Given the description of an element on the screen output the (x, y) to click on. 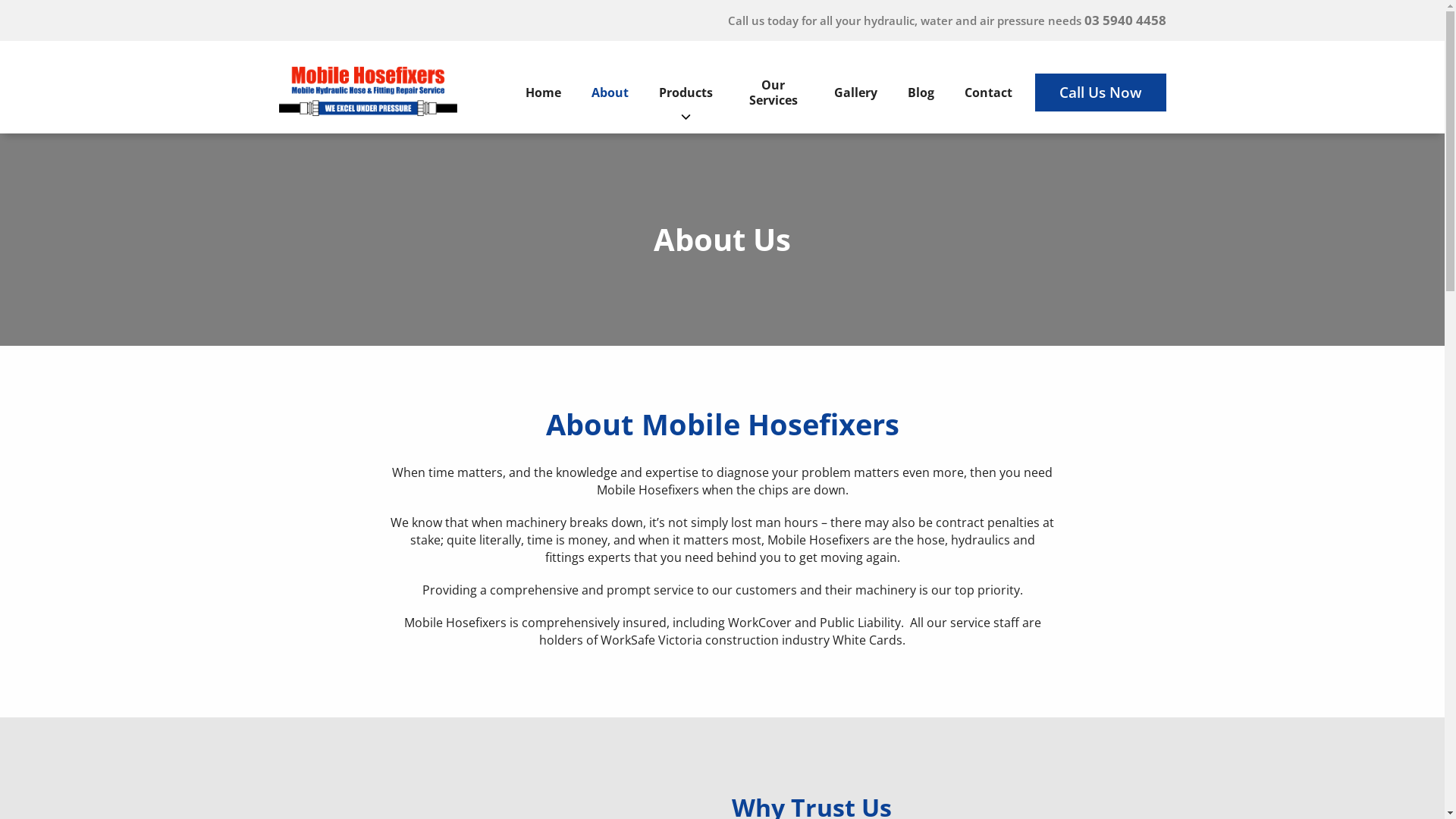
Our Services Element type: text (773, 92)
Gallery Element type: text (855, 92)
Products Element type: text (685, 92)
Home Element type: text (542, 92)
03 5940 4458 Element type: text (1125, 19)
Call Us Now Element type: text (1099, 92)
Contact Element type: text (988, 92)
About Element type: text (609, 92)
Blog Element type: text (919, 92)
